Given the description of an element on the screen output the (x, y) to click on. 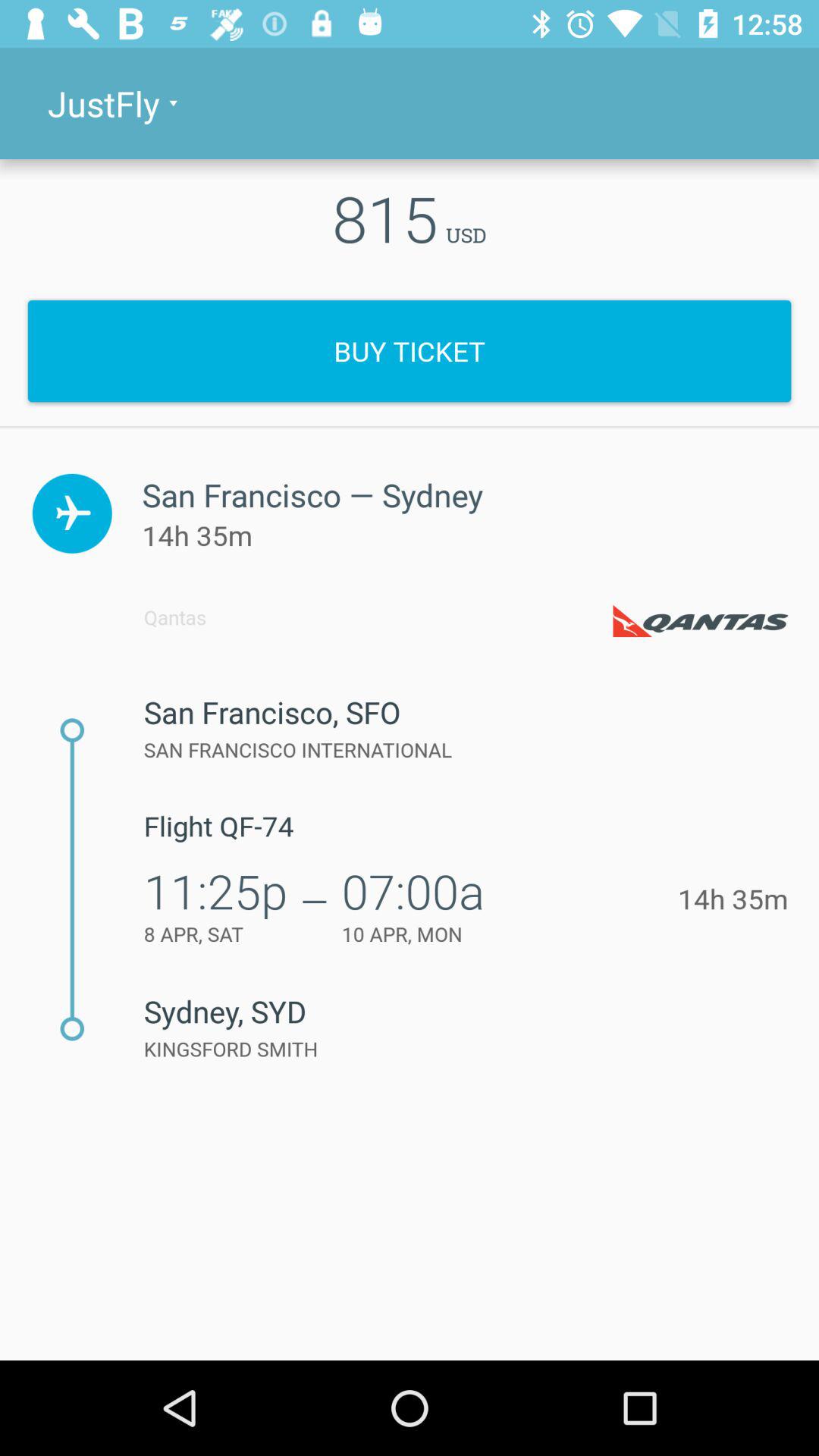
turn on the buy ticket icon (409, 351)
